Given the description of an element on the screen output the (x, y) to click on. 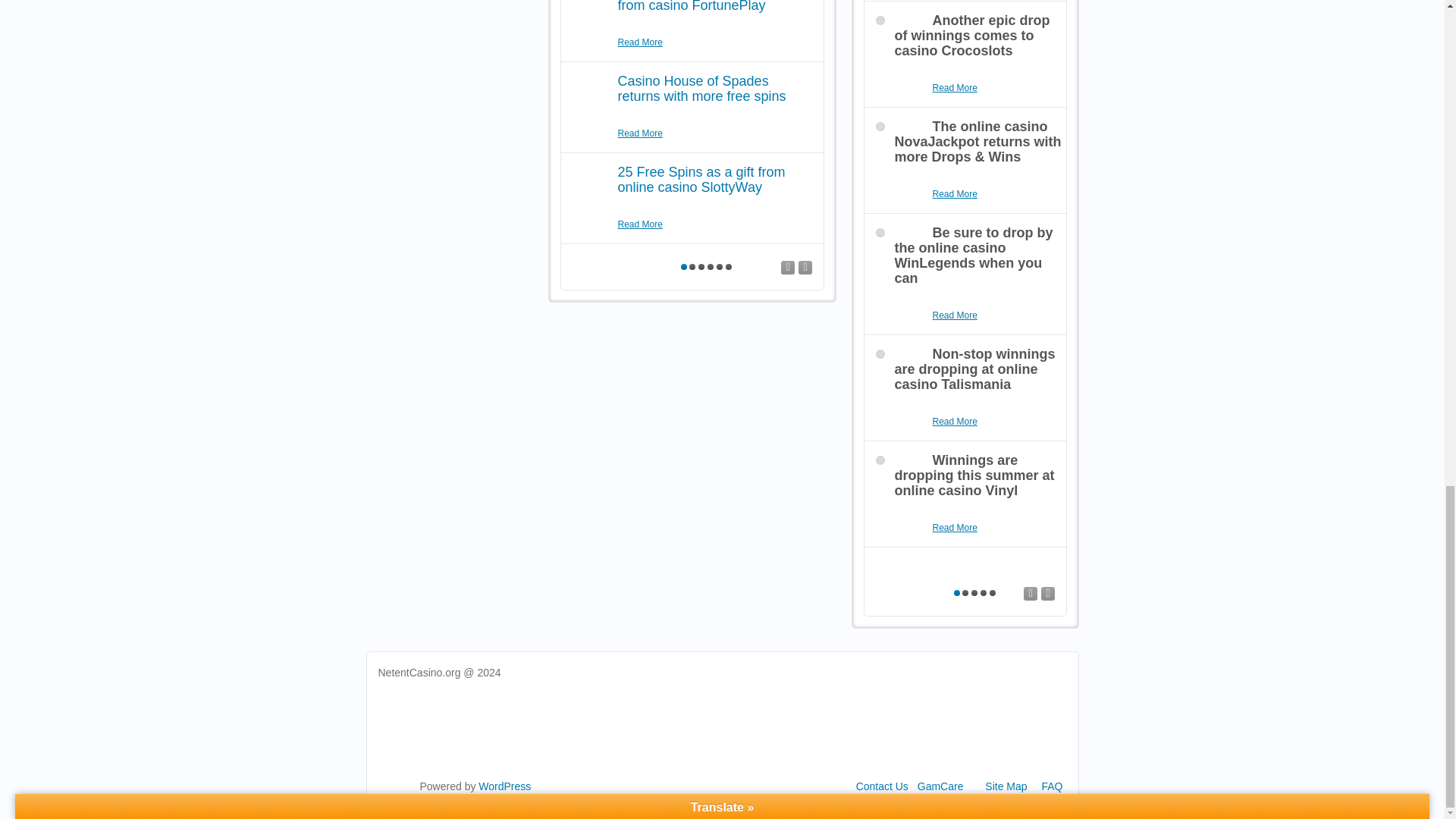
Read More (954, 194)
Read More (954, 315)
Read More (954, 527)
Casino House of Spades returns with more free spins (701, 88)
25 Free Spins as a gift from online casino SlottyWay (700, 179)
Read More (639, 224)
Read More (954, 88)
Site Map (1005, 786)
Sunday-Funday: Free Spins from casino FortunePlay (702, 6)
Read More (954, 421)
FAQ (1051, 786)
Contact Us (882, 786)
Gambling Help (940, 786)
Read More (639, 133)
Read More (639, 42)
